Given the description of an element on the screen output the (x, y) to click on. 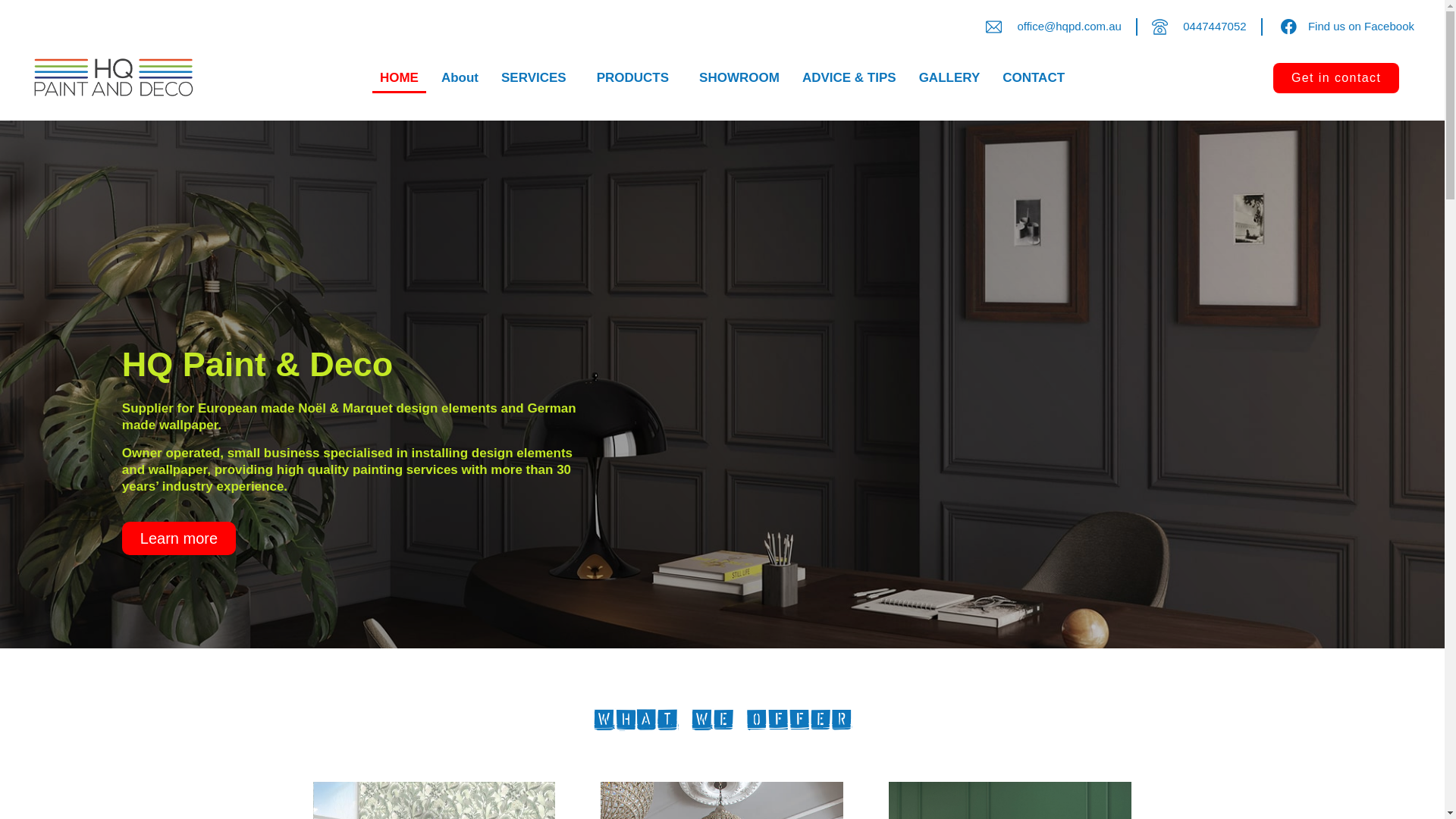
About Element type: text (459, 77)
CONTACT Element type: text (1033, 77)
HOME Element type: text (399, 77)
office@hqpd.com.au Element type: text (1053, 26)
ADVICE & TIPS Element type: text (848, 77)
Get in contact Element type: text (1336, 77)
Find us on Facebook Element type: text (1345, 26)
SHOWROOM Element type: text (739, 77)
Send Element type: text (721, 629)
0447447052 Element type: text (1198, 26)
SERVICES Element type: text (537, 77)
GALLERY Element type: text (949, 77)
Learn more Element type: text (178, 538)
PRODUCTS Element type: text (636, 77)
